Given the description of an element on the screen output the (x, y) to click on. 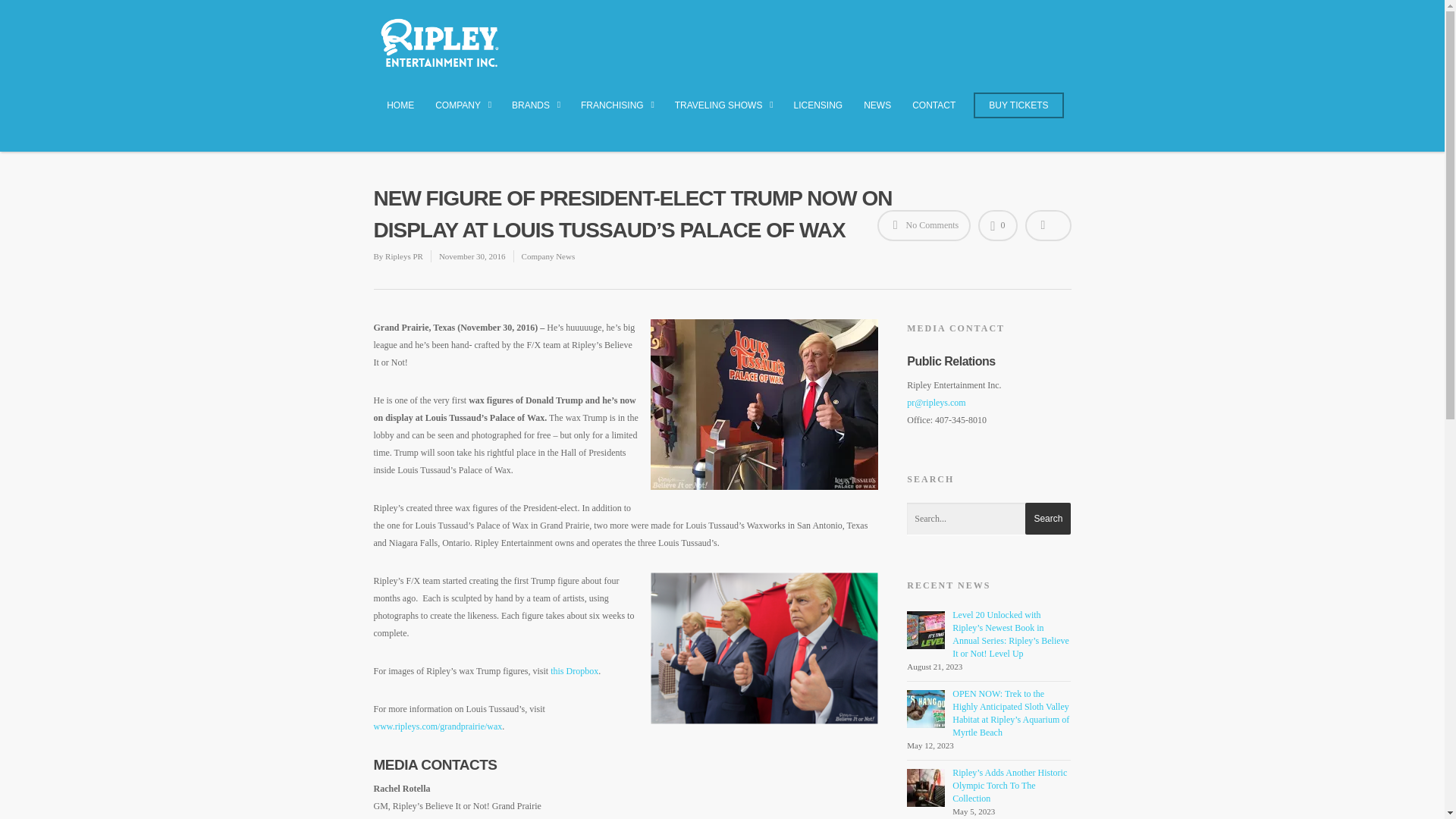
Posts by Ripleys PR (404, 256)
BRANDS (535, 113)
BUY TICKETS (1018, 112)
Search for: (988, 518)
TRAVELING SHOWS (724, 113)
LICENSING (817, 112)
Company News (548, 256)
0 (997, 224)
COMPANY (462, 113)
Search (1047, 518)
Love this (997, 224)
No Comments (924, 224)
Ripleys PR (404, 256)
FRANCHISING (616, 113)
Search (1047, 518)
